Given the description of an element on the screen output the (x, y) to click on. 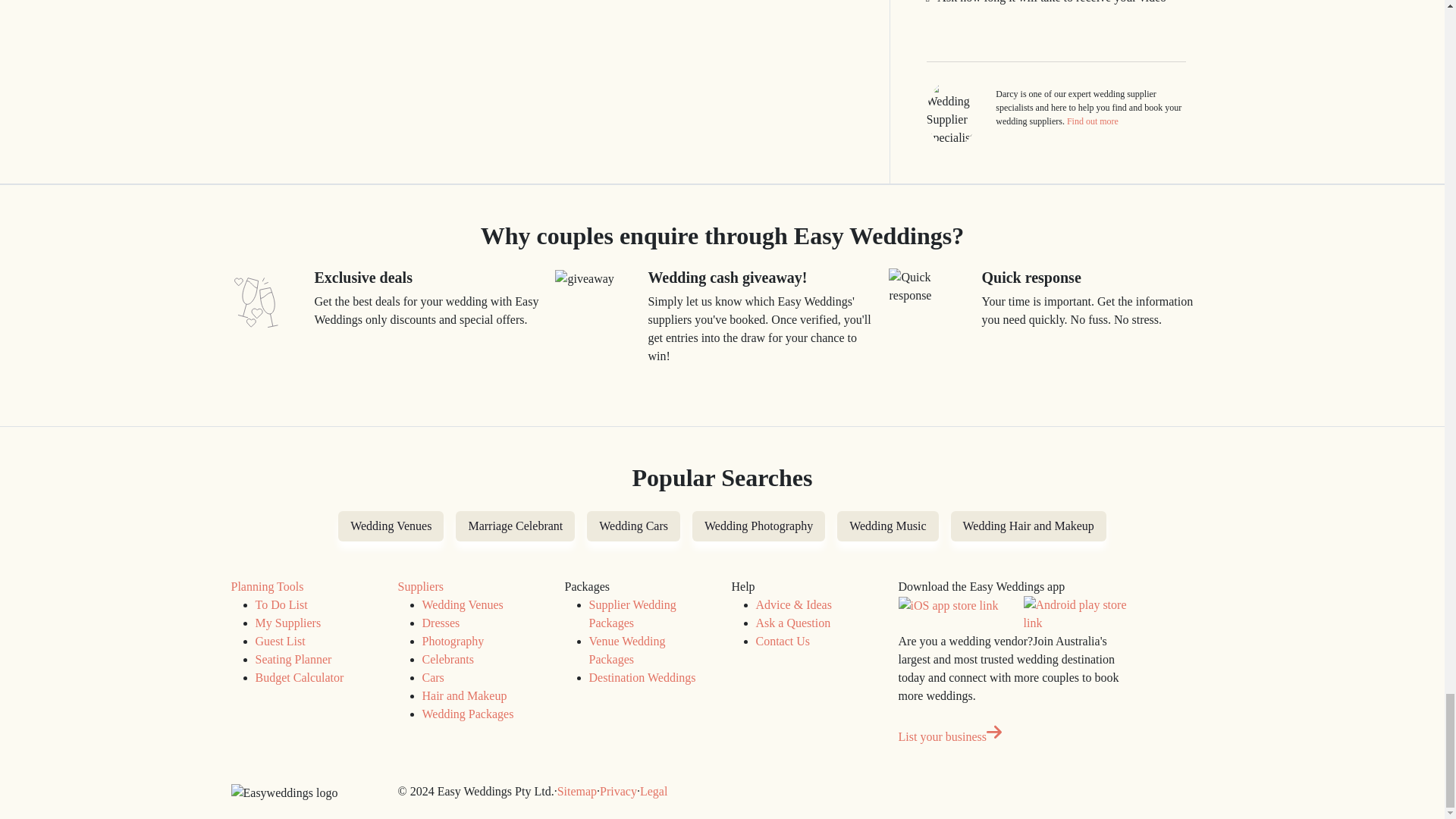
find out more (1092, 121)
Android play store link (1077, 614)
giveaway (583, 279)
iOS app store link (947, 606)
Exclusive deals (255, 302)
Quick response (930, 286)
